Given the description of an element on the screen output the (x, y) to click on. 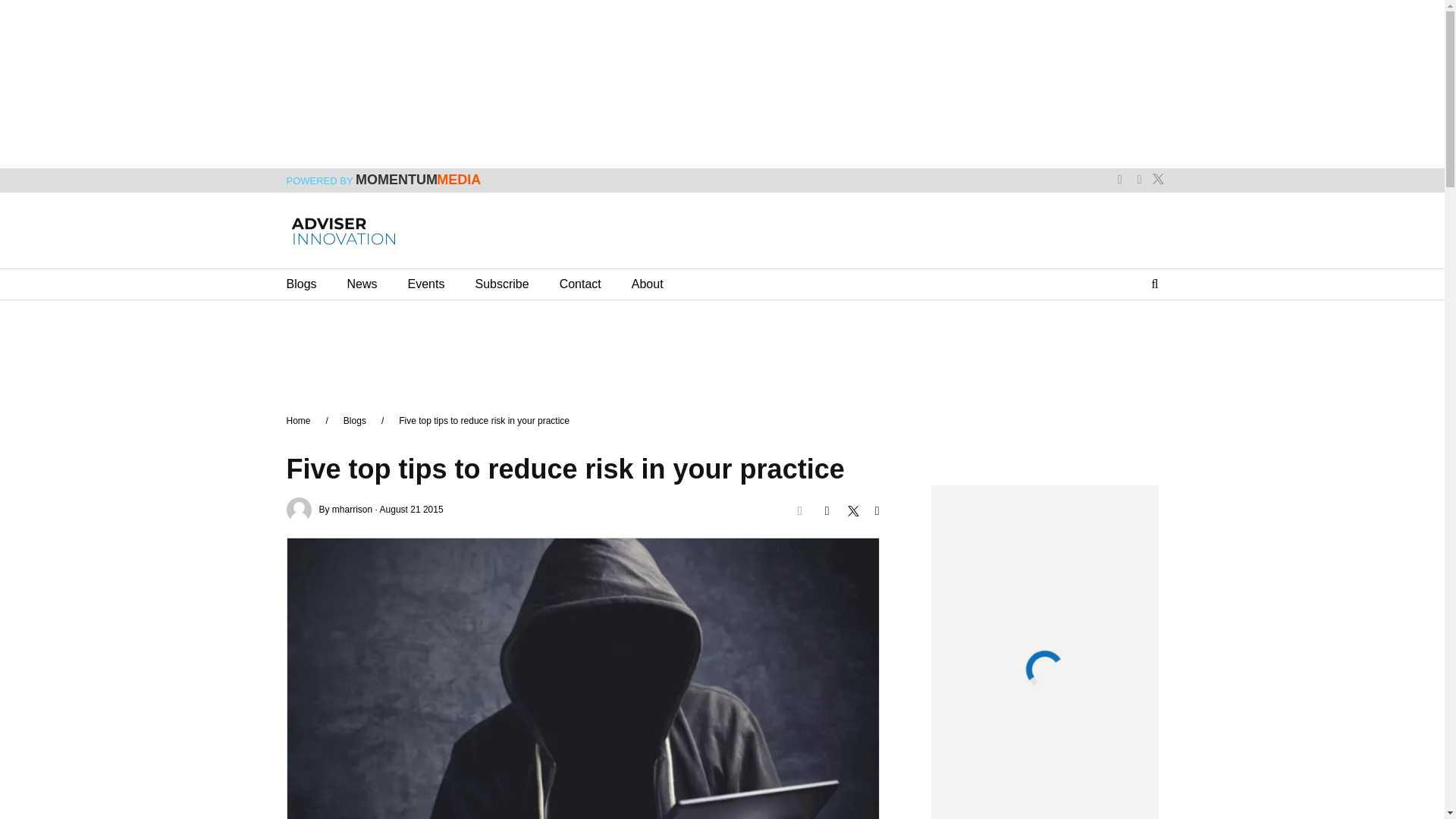
POWERED BY MOMENTUM MEDIA (383, 181)
Home (298, 420)
About (647, 283)
News (362, 283)
Events (426, 283)
Contact (580, 283)
Blogs (354, 420)
Blogs (301, 283)
Subscribe (501, 283)
